Given the description of an element on the screen output the (x, y) to click on. 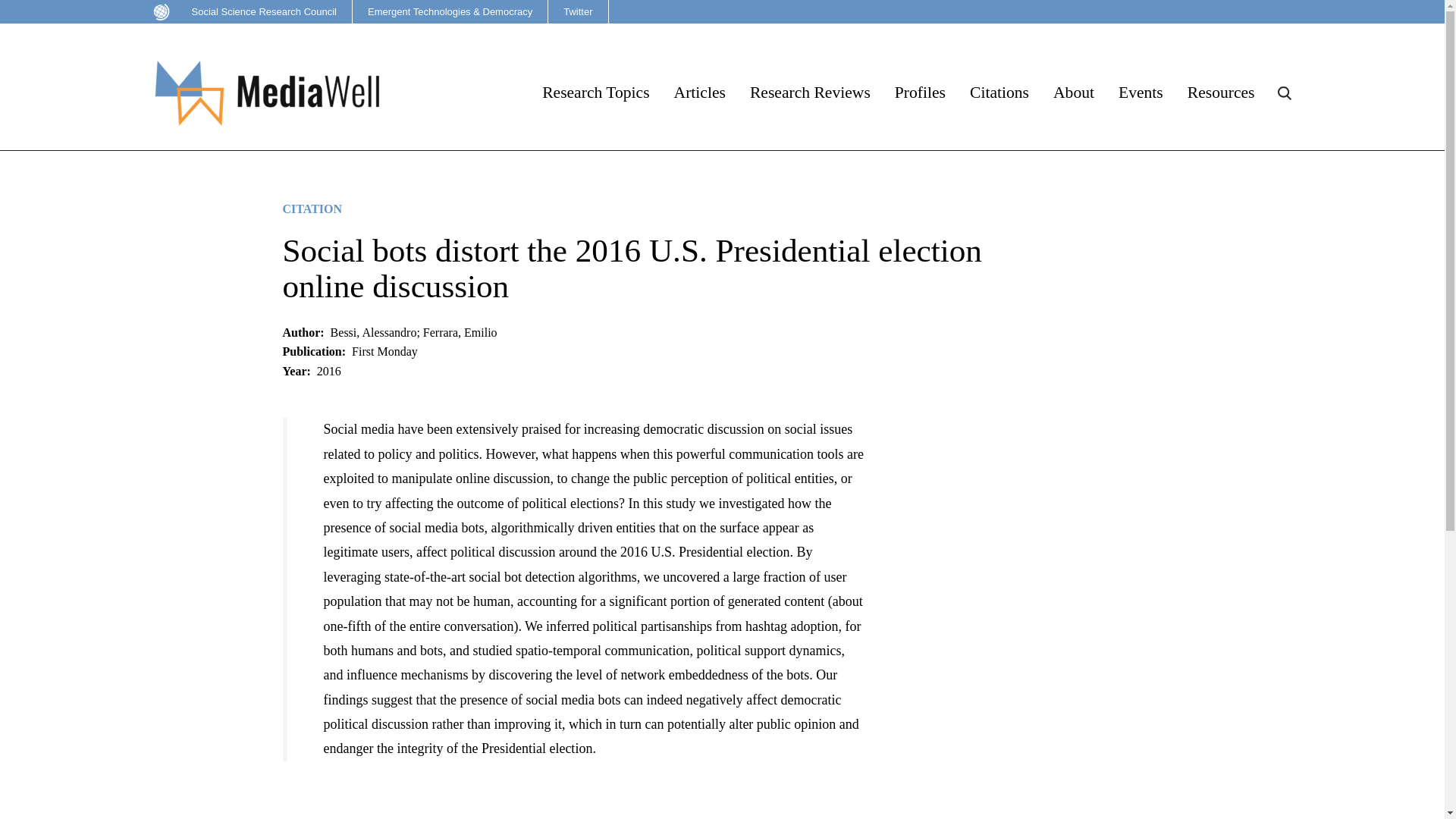
Resources (1221, 92)
Social Science Research Council (247, 11)
About (1073, 92)
Events (1140, 92)
Articles (699, 92)
Twitter (577, 11)
Social Science Research Council (247, 11)
Profiles (919, 92)
Citations (999, 92)
Twitter (577, 11)
Research Topics (595, 92)
Research Reviews (809, 92)
Click to search site (1283, 92)
